Given the description of an element on the screen output the (x, y) to click on. 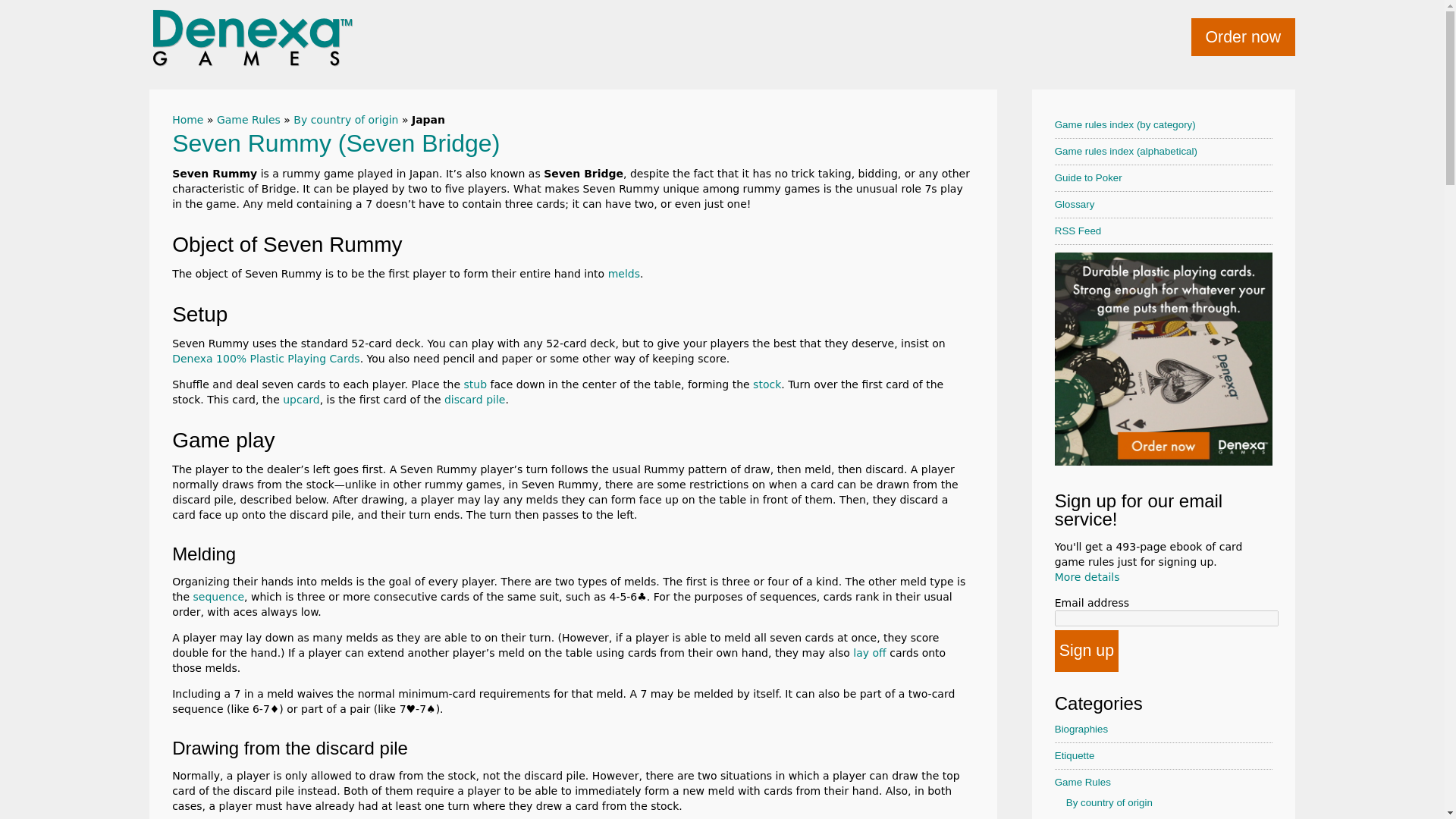
Order now (1243, 36)
Sign up (1086, 650)
Home (187, 119)
stock (766, 384)
upcard (300, 399)
lay off (869, 653)
sequence (218, 596)
stub (475, 384)
Game Rules (248, 119)
By country of origin (345, 119)
melds (624, 273)
discard pile (474, 399)
